Given the description of an element on the screen output the (x, y) to click on. 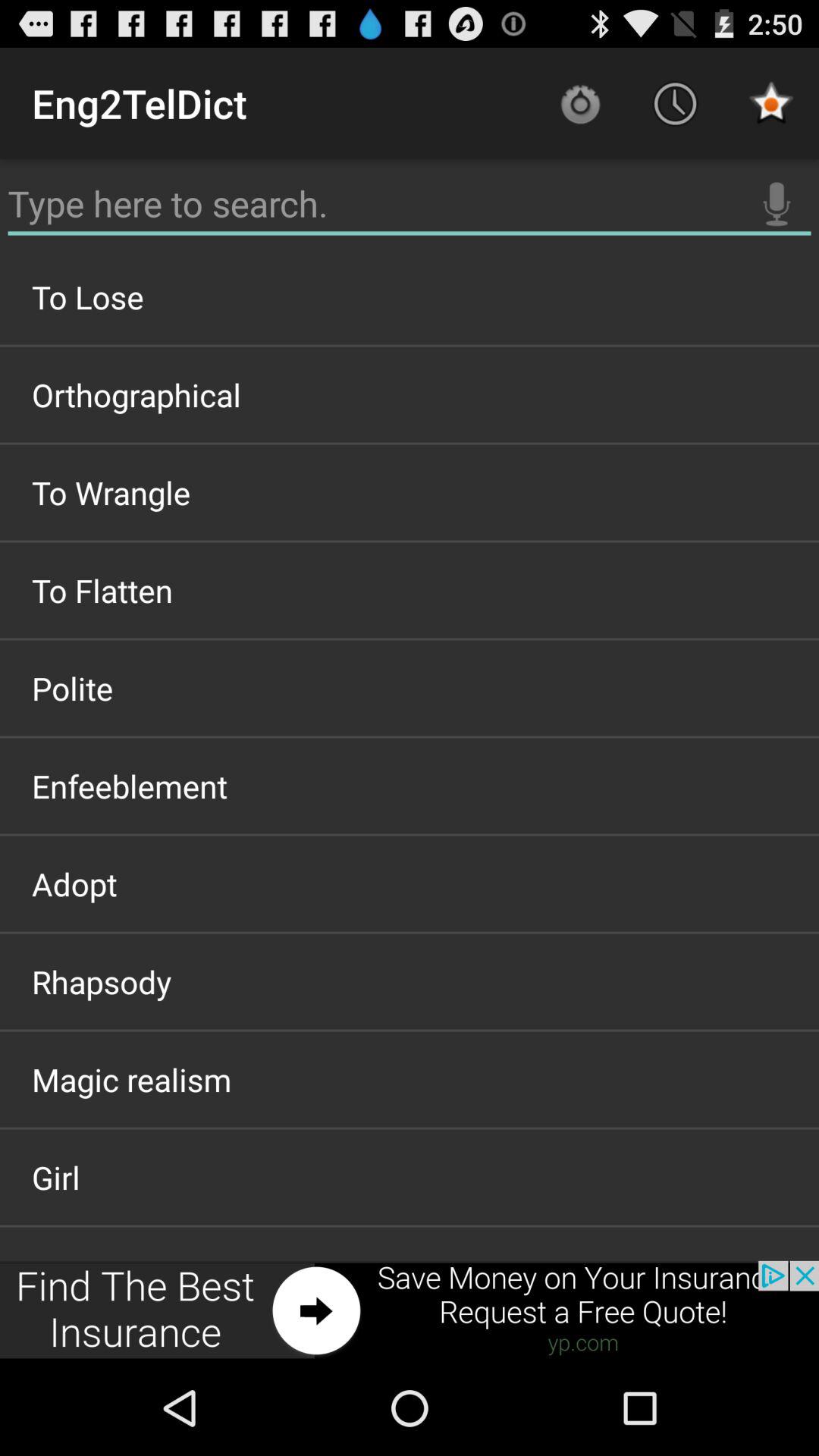
press the polite (409, 687)
